Given the description of an element on the screen output the (x, y) to click on. 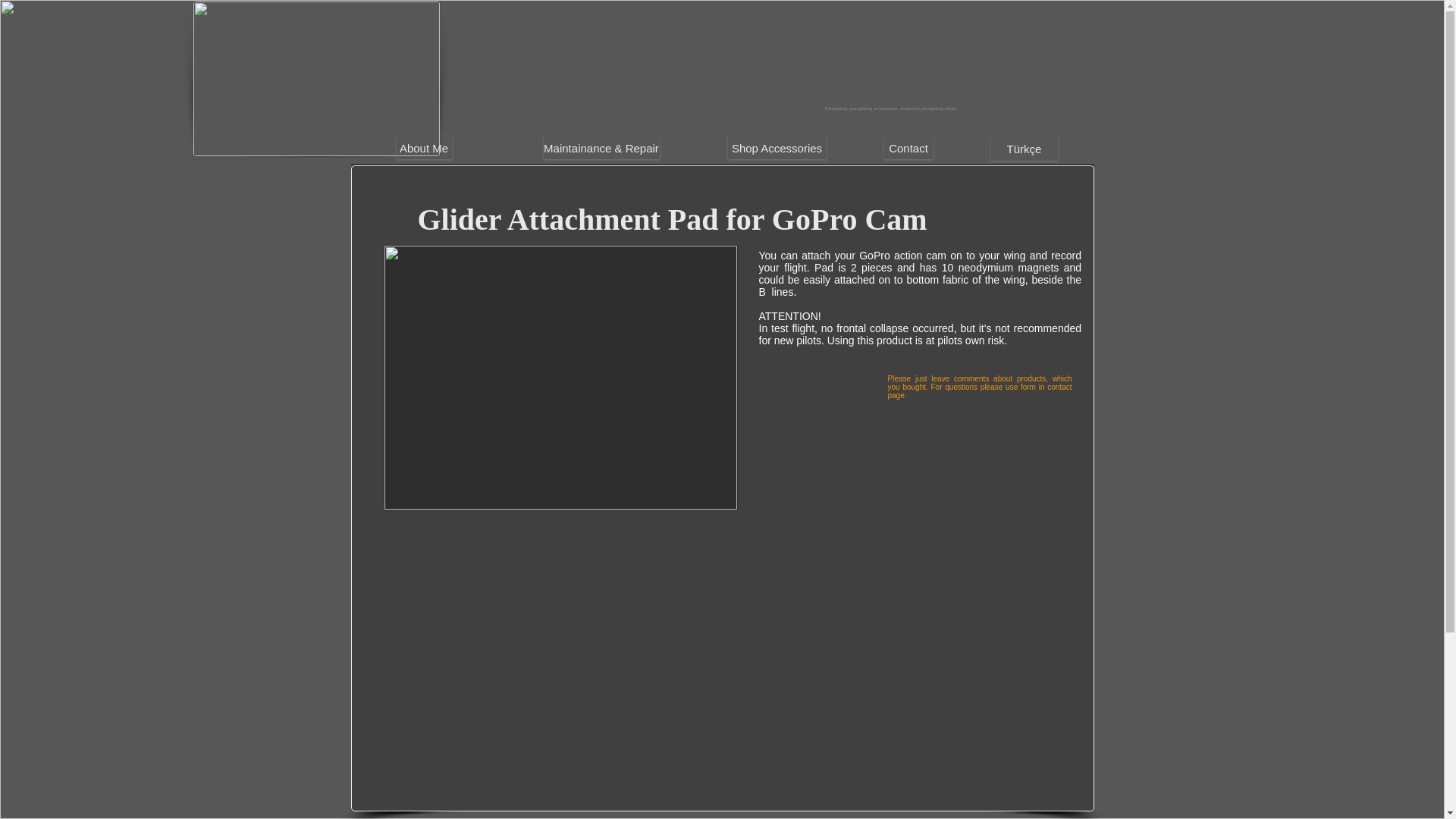
External YouTube (561, 657)
Shop Accessories (777, 147)
About Me (423, 147)
Contact (908, 147)
